Given the description of an element on the screen output the (x, y) to click on. 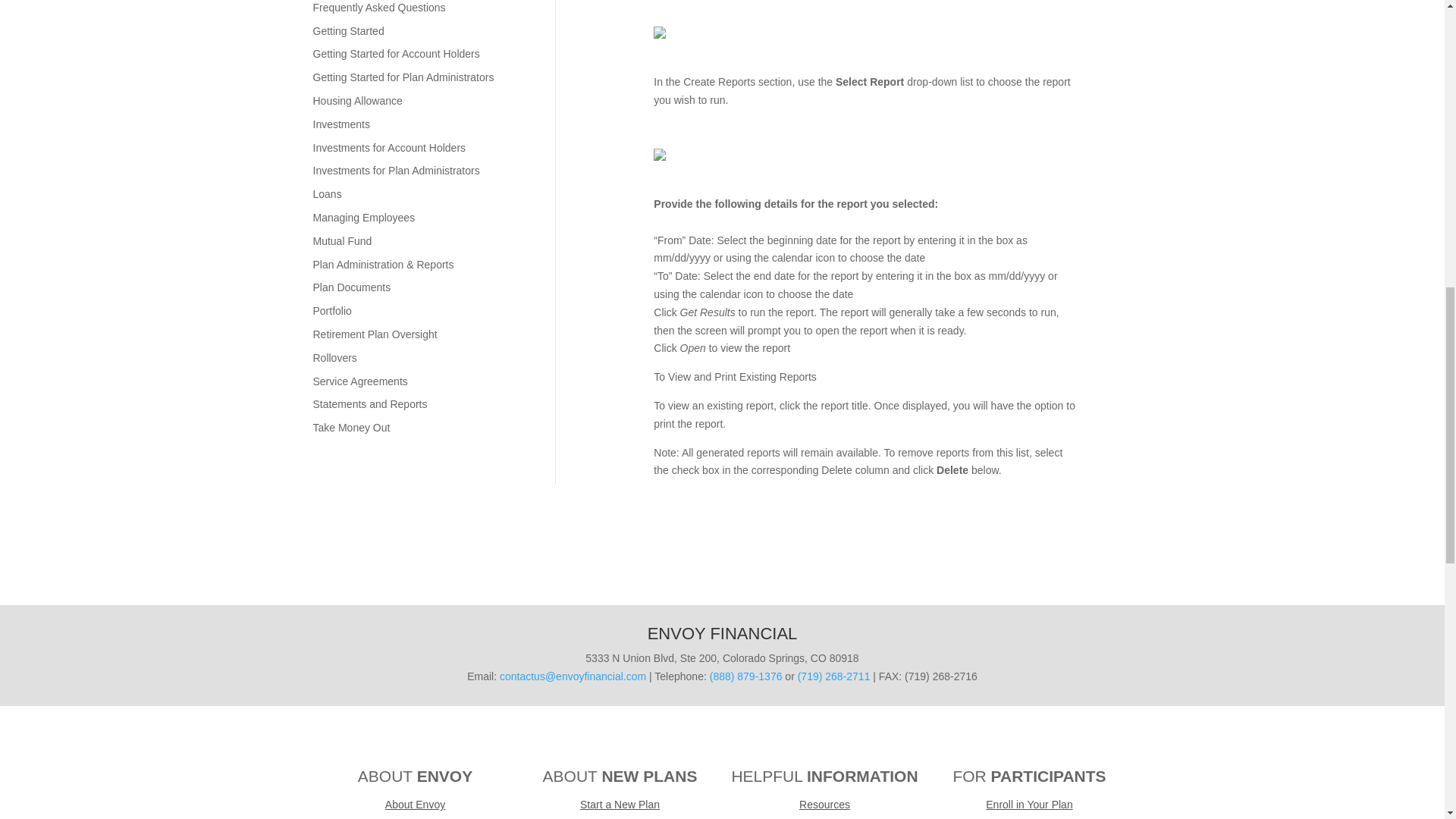
Investments (341, 123)
Investments for Plan Administrators (396, 170)
Managing Employees (363, 217)
Mutual Fund (342, 241)
Rollovers (334, 357)
Housing Allowance (357, 101)
Getting Started (348, 30)
Service Agreements (360, 381)
Retirement Plan Oversight (374, 334)
Plan Documents (351, 287)
Take Money Out (351, 427)
Getting Started for Plan Administrators (403, 77)
Getting Started for Account Holders (396, 53)
Statements and Reports (369, 404)
Investments for Account Holders (389, 147)
